Given the description of an element on the screen output the (x, y) to click on. 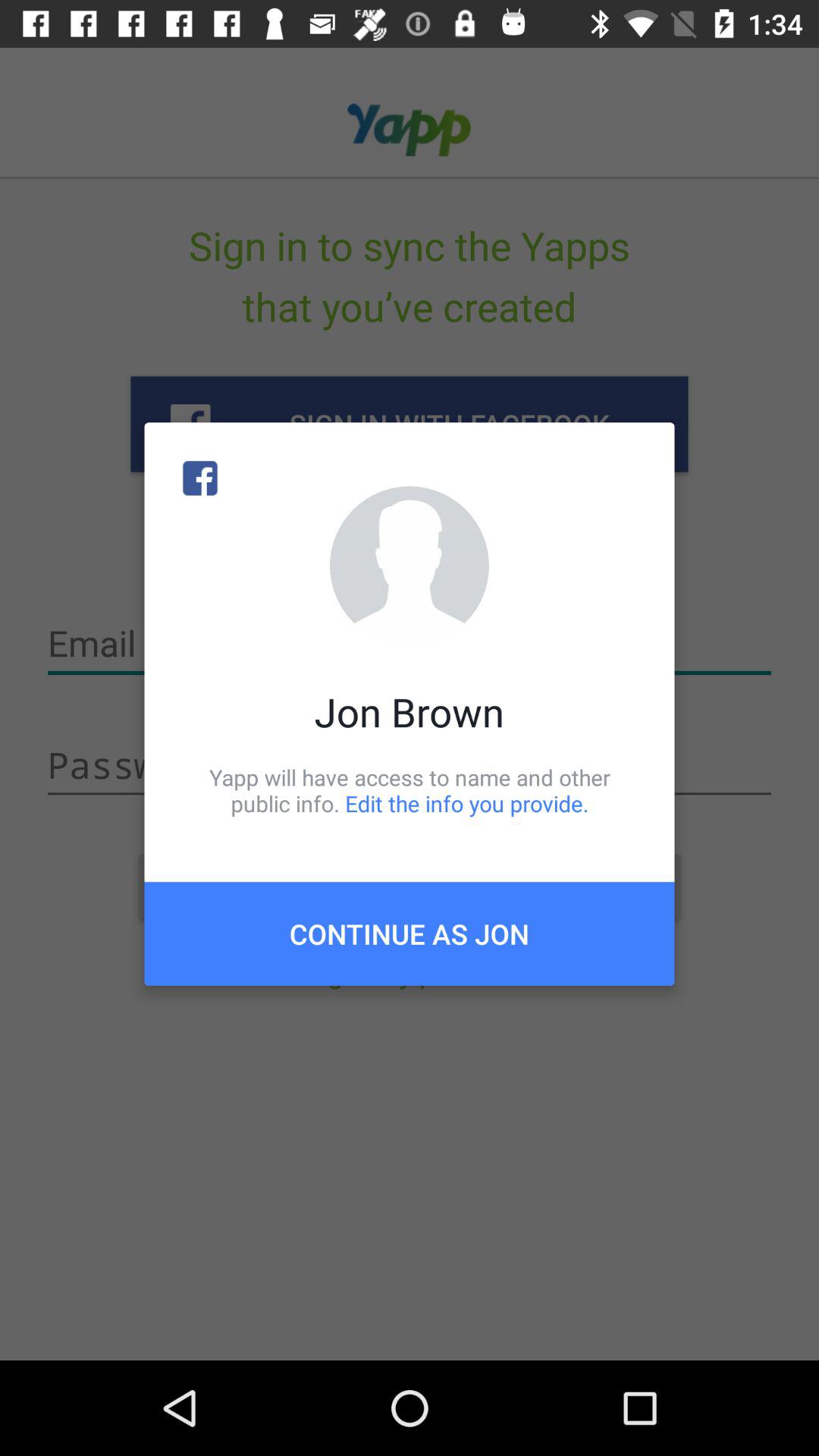
flip until the yapp will have (409, 790)
